Given the description of an element on the screen output the (x, y) to click on. 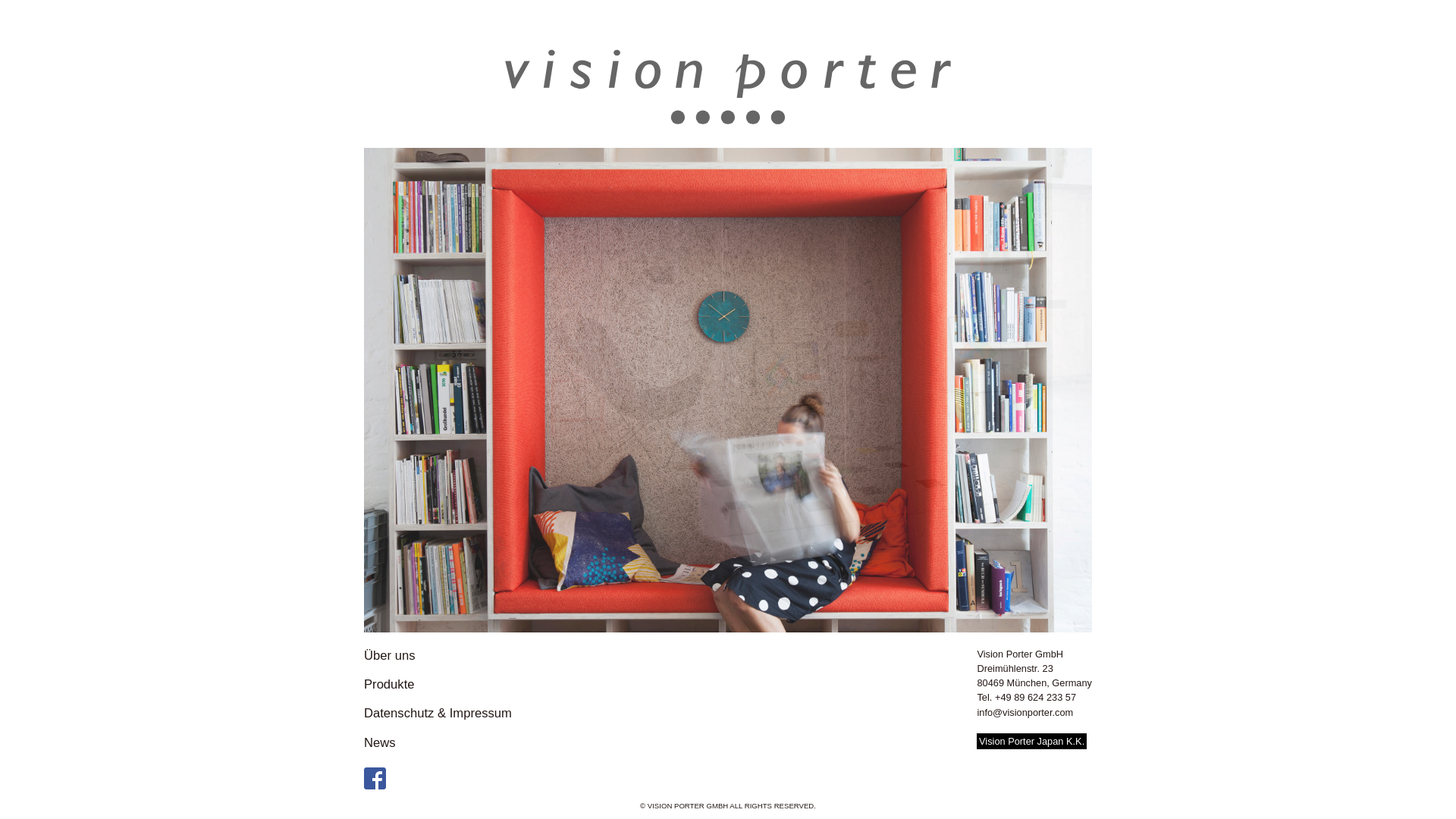
Skip to content Element type: text (0, 0)
News Element type: text (437, 743)
Slide 2 Element type: hover (728, 390)
Produkte Element type: text (437, 684)
Datenschutz & Impressum Element type: text (437, 713)
Vision Porter Japan K.K. Element type: text (1030, 740)
info@visionporter.com Element type: text (1024, 712)
